Given the description of an element on the screen output the (x, y) to click on. 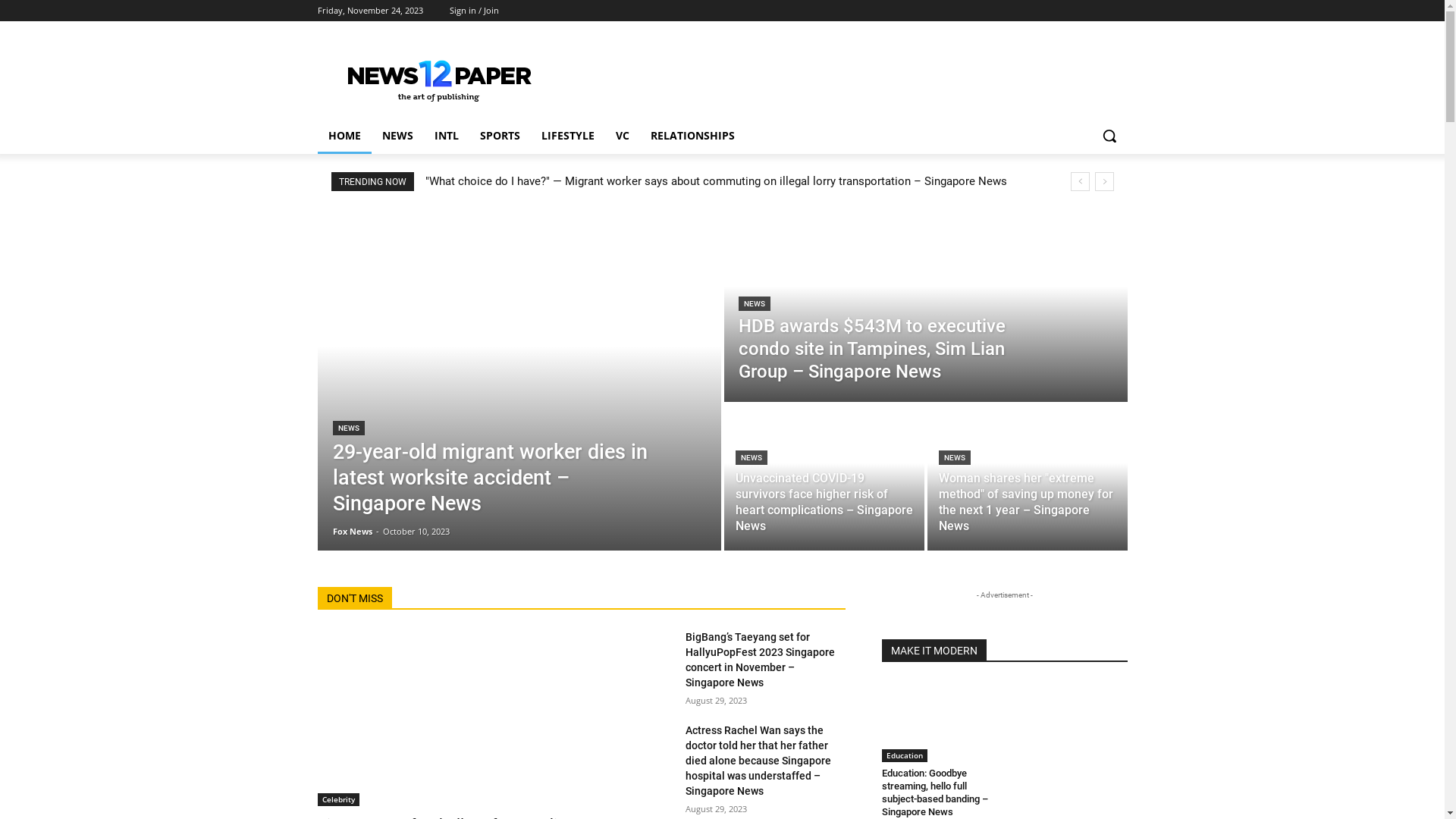
NEWS Element type: text (348, 427)
RELATIONSHIPS Element type: text (692, 135)
SPORTS Element type: text (499, 135)
VC Element type: text (622, 135)
HOME Element type: text (343, 135)
Fox News Element type: text (351, 530)
Sign in / Join Element type: text (473, 10)
LIFESTYLE Element type: text (567, 135)
NEWS Element type: text (751, 457)
NEWS Element type: text (397, 135)
Education Element type: text (903, 755)
INTL Element type: text (445, 135)
Celebrity Element type: text (337, 799)
NEWS Element type: text (754, 303)
NEWS Element type: text (954, 457)
